Given the description of an element on the screen output the (x, y) to click on. 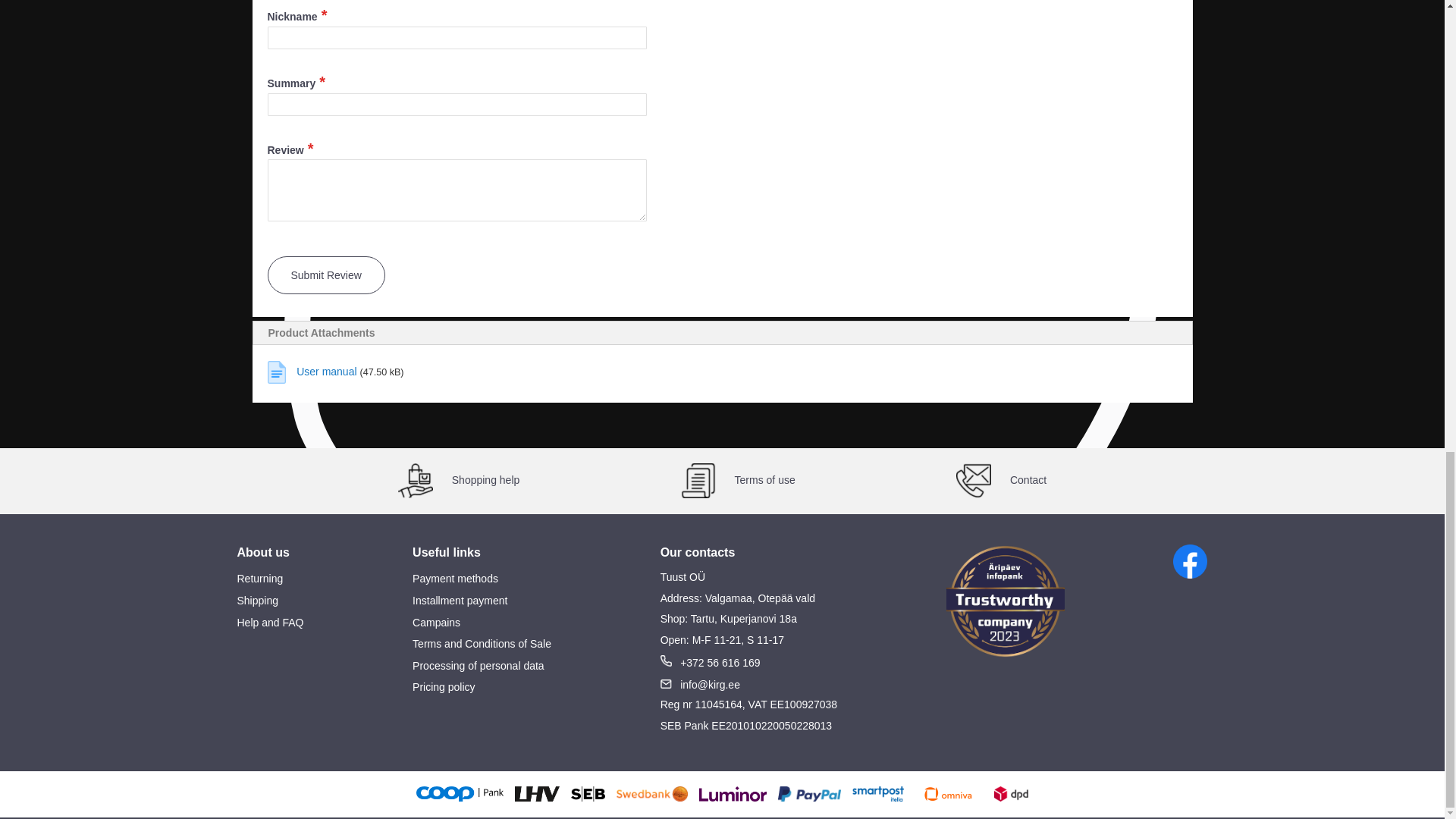
Facebook (1190, 561)
